Given the description of an element on the screen output the (x, y) to click on. 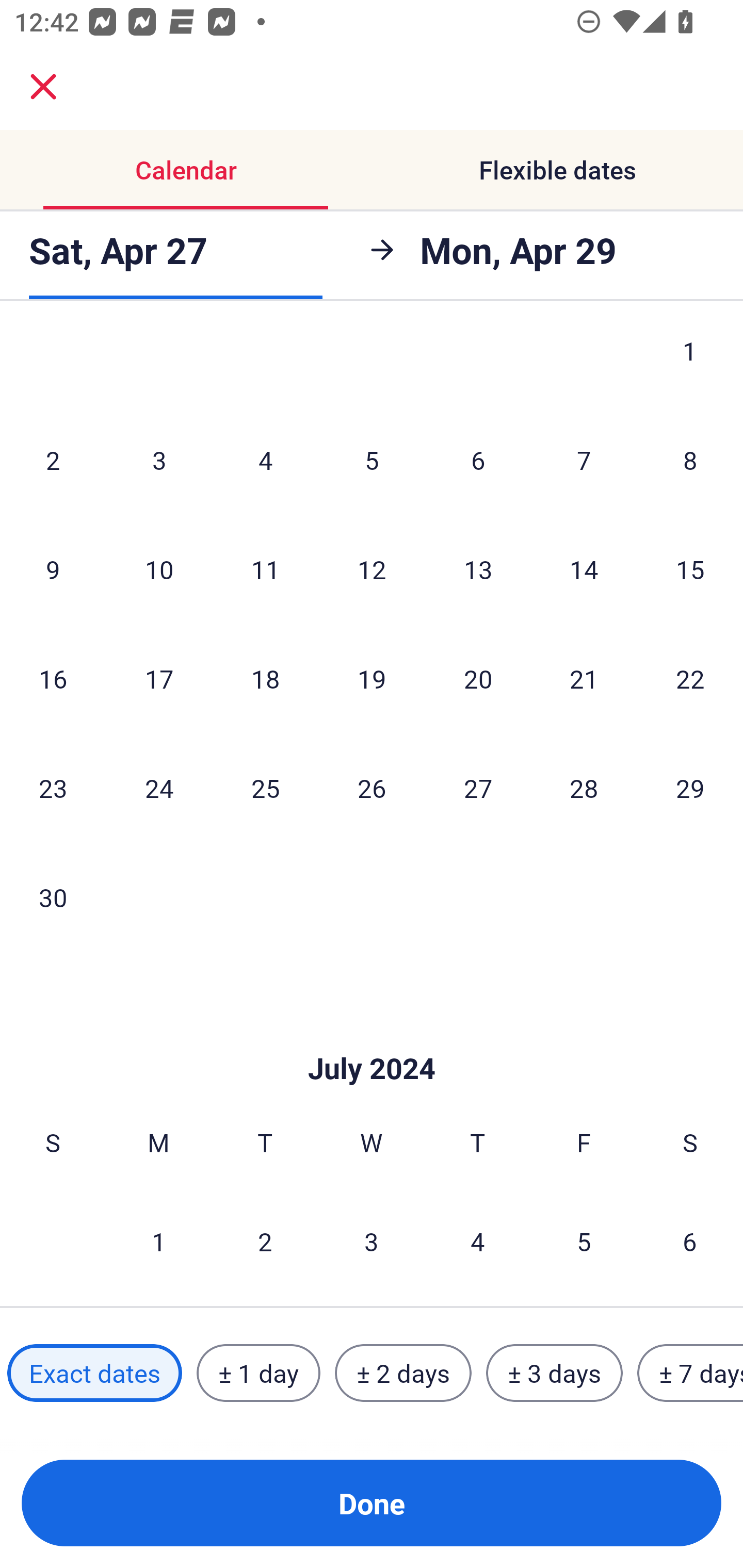
close. (43, 86)
Flexible dates (557, 170)
1 Saturday, June 1, 2024 (689, 366)
2 Sunday, June 2, 2024 (53, 459)
3 Monday, June 3, 2024 (159, 459)
4 Tuesday, June 4, 2024 (265, 459)
5 Wednesday, June 5, 2024 (371, 459)
6 Thursday, June 6, 2024 (477, 459)
7 Friday, June 7, 2024 (584, 459)
8 Saturday, June 8, 2024 (690, 459)
9 Sunday, June 9, 2024 (53, 568)
10 Monday, June 10, 2024 (159, 568)
11 Tuesday, June 11, 2024 (265, 568)
12 Wednesday, June 12, 2024 (371, 568)
13 Thursday, June 13, 2024 (477, 568)
14 Friday, June 14, 2024 (584, 568)
15 Saturday, June 15, 2024 (690, 568)
16 Sunday, June 16, 2024 (53, 677)
17 Monday, June 17, 2024 (159, 677)
18 Tuesday, June 18, 2024 (265, 677)
19 Wednesday, June 19, 2024 (371, 677)
20 Thursday, June 20, 2024 (477, 677)
21 Friday, June 21, 2024 (584, 677)
22 Saturday, June 22, 2024 (690, 677)
23 Sunday, June 23, 2024 (53, 787)
24 Monday, June 24, 2024 (159, 787)
25 Tuesday, June 25, 2024 (265, 787)
26 Wednesday, June 26, 2024 (371, 787)
27 Thursday, June 27, 2024 (477, 787)
28 Friday, June 28, 2024 (584, 787)
29 Saturday, June 29, 2024 (690, 787)
30 Sunday, June 30, 2024 (53, 896)
Skip to Done (371, 1037)
1 Monday, July 1, 2024 (158, 1240)
2 Tuesday, July 2, 2024 (264, 1240)
3 Wednesday, July 3, 2024 (371, 1240)
4 Thursday, July 4, 2024 (477, 1240)
5 Friday, July 5, 2024 (583, 1240)
6 Saturday, July 6, 2024 (689, 1240)
Exact dates (94, 1372)
± 1 day (258, 1372)
± 2 days (403, 1372)
± 3 days (553, 1372)
± 7 days (690, 1372)
Done (371, 1502)
